Given the description of an element on the screen output the (x, y) to click on. 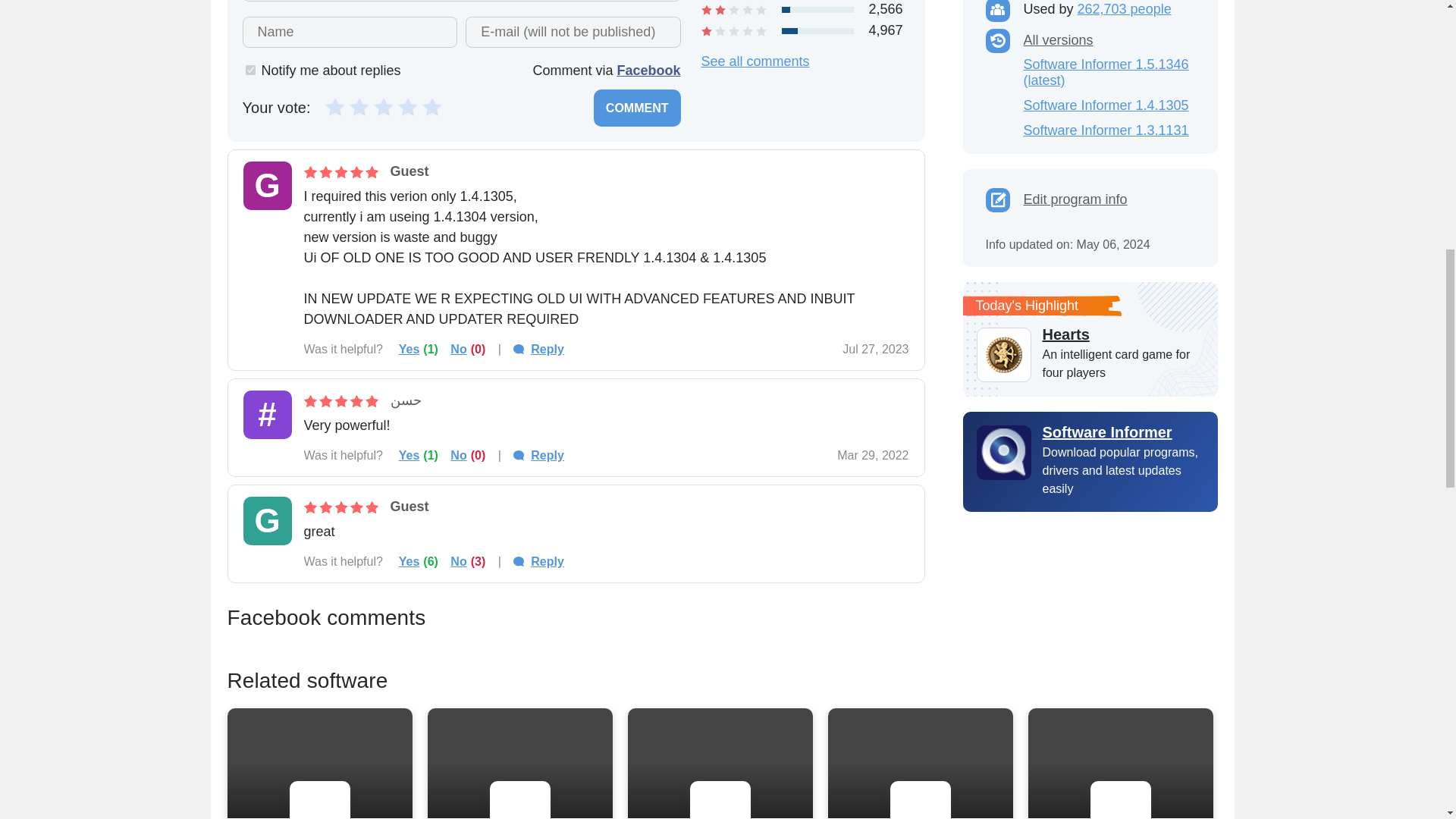
1 (251, 70)
Comment (637, 107)
